Given the description of an element on the screen output the (x, y) to click on. 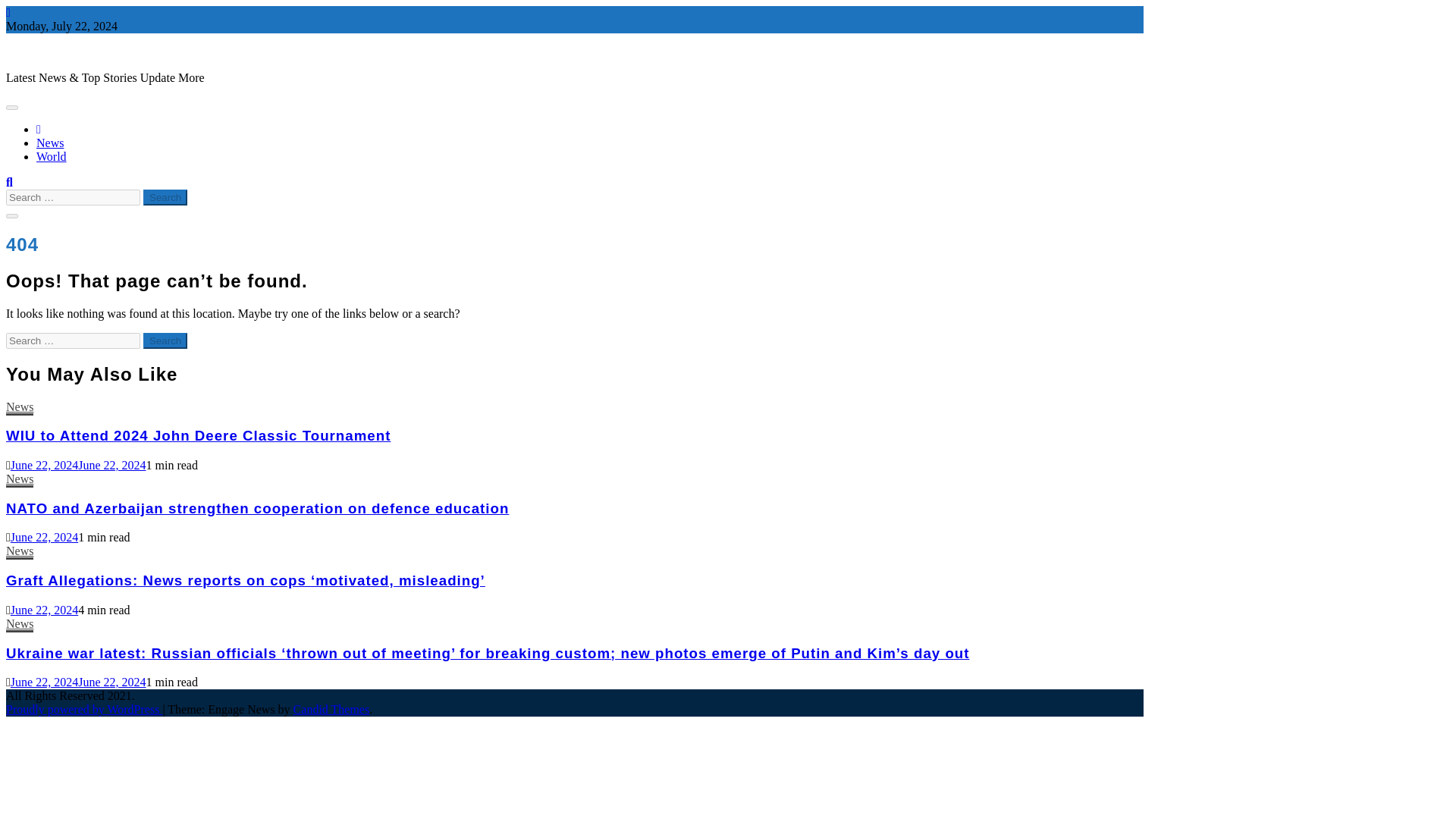
June 22, 2024June 22, 2024 (78, 464)
Search (164, 340)
News (19, 407)
News (50, 142)
June 22, 2024 (44, 536)
June 22, 2024June 22, 2024 (78, 681)
News (19, 624)
Search (164, 340)
Search (164, 197)
June 22, 2024 (44, 609)
Search (164, 340)
Search (164, 197)
World (51, 155)
